Given the description of an element on the screen output the (x, y) to click on. 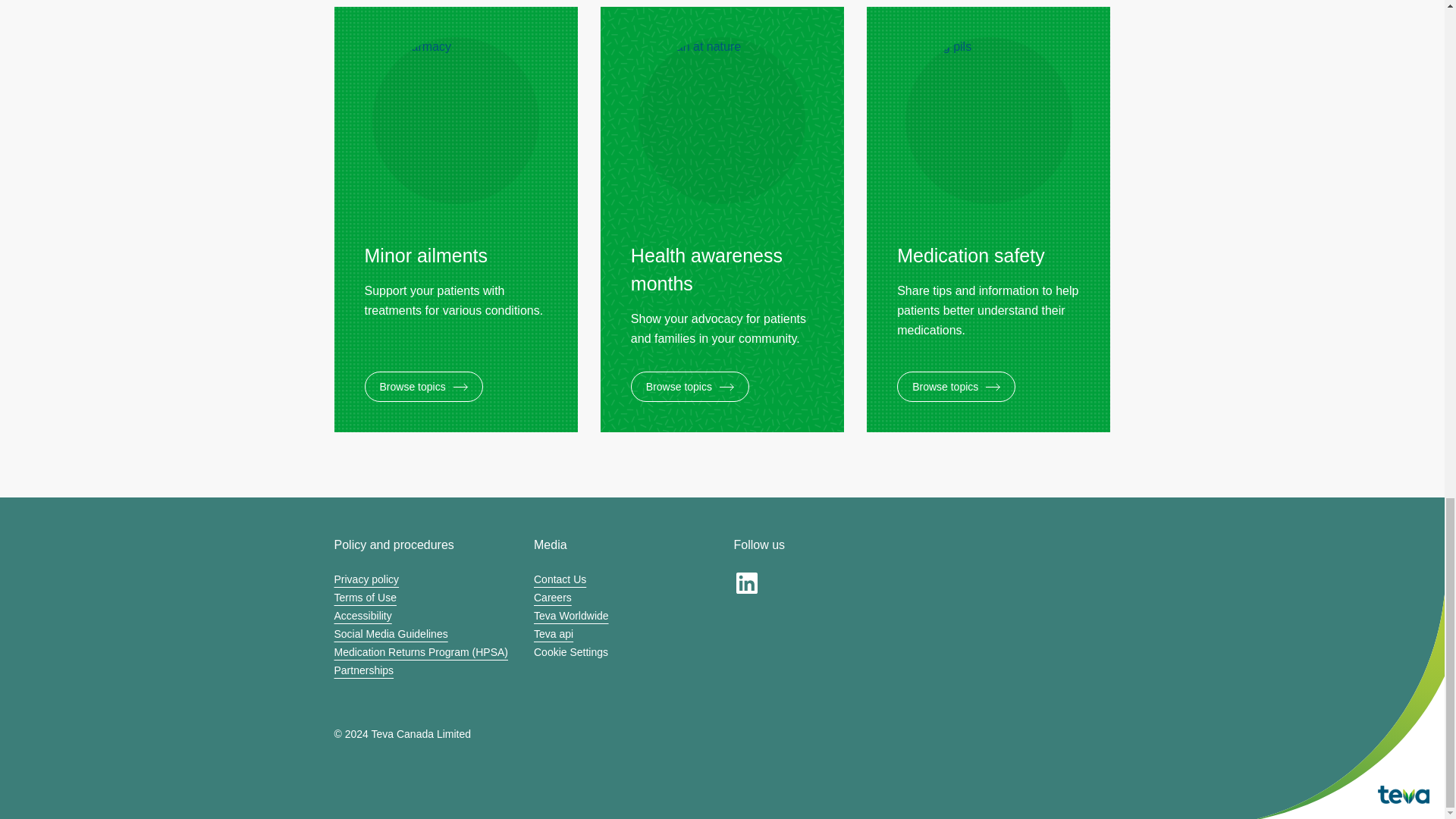
Follow us (746, 583)
Browse topics about Health awareness months (721, 386)
Browse topics about Medication safety (988, 386)
Browse topics about Minor ailments (455, 386)
